Given the description of an element on the screen output the (x, y) to click on. 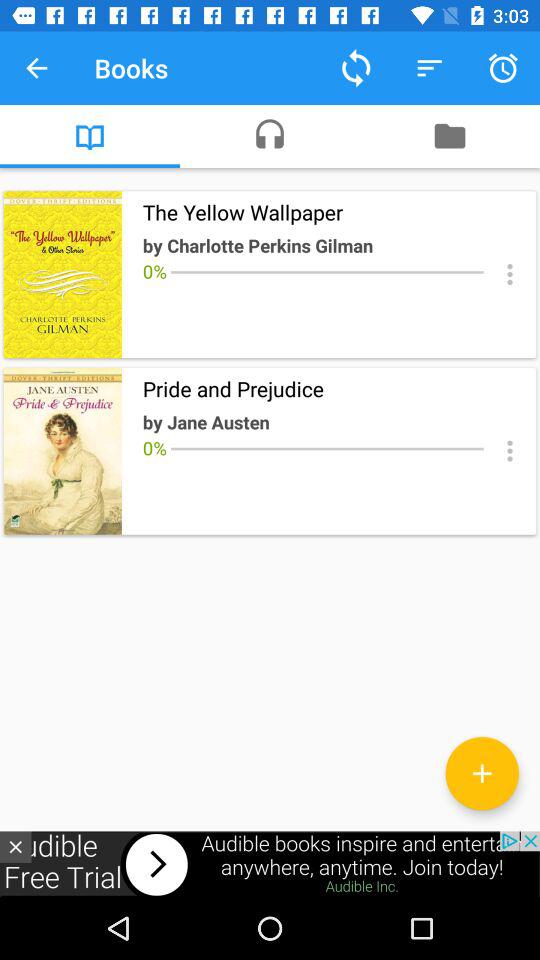
view options (509, 450)
